Given the description of an element on the screen output the (x, y) to click on. 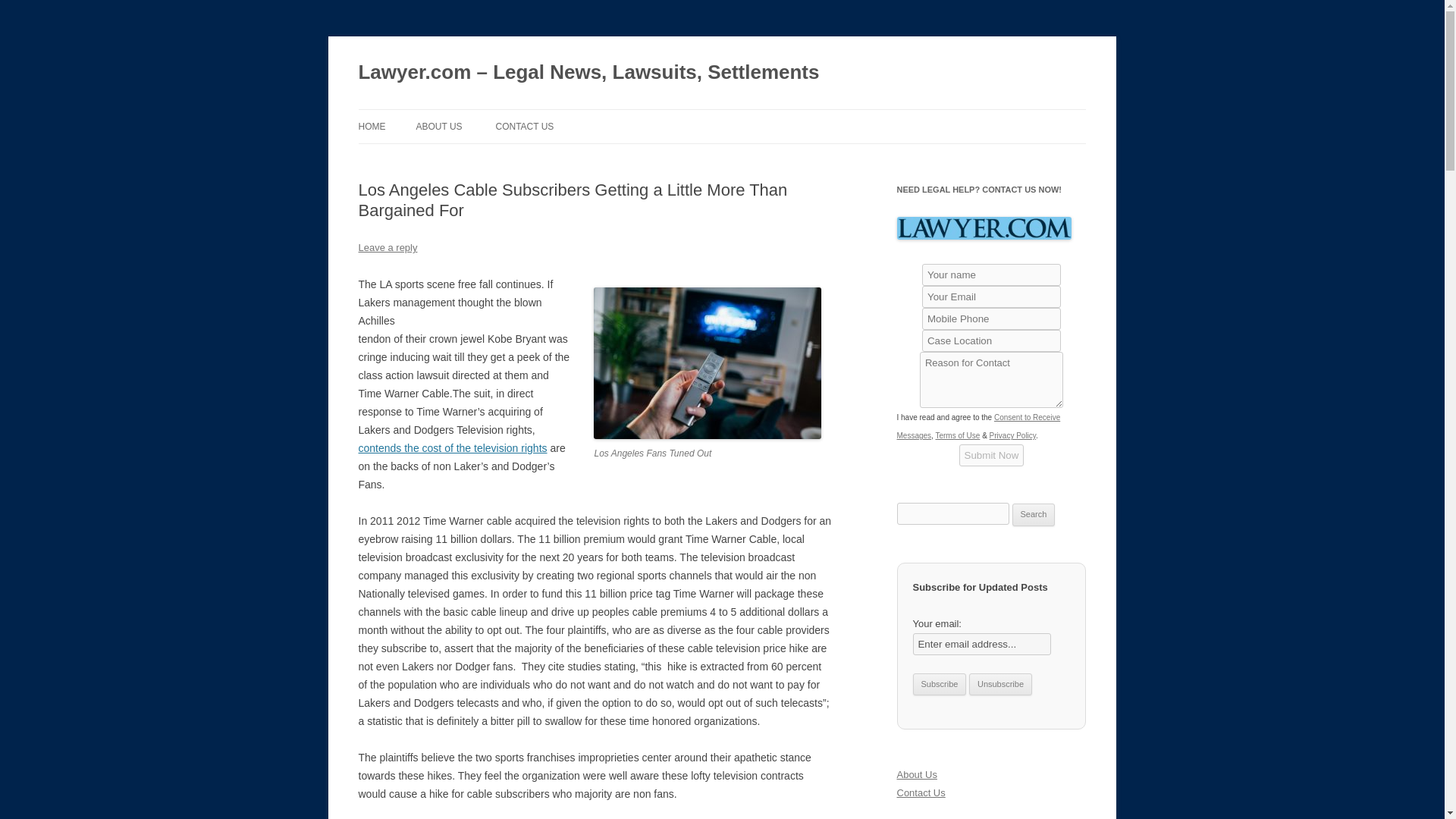
Unsubscribe (1000, 684)
Search (1033, 514)
Submit Now (992, 455)
Privacy Policy (1013, 435)
Subscribe (939, 684)
CONTACT US (524, 126)
ABOUT US (437, 126)
Consent to Receive Messages (977, 426)
Terms of Use (956, 435)
Search (1033, 514)
Enter email address... (981, 644)
contends the cost of the television rights (452, 448)
Leave a reply (387, 247)
